Given the description of an element on the screen output the (x, y) to click on. 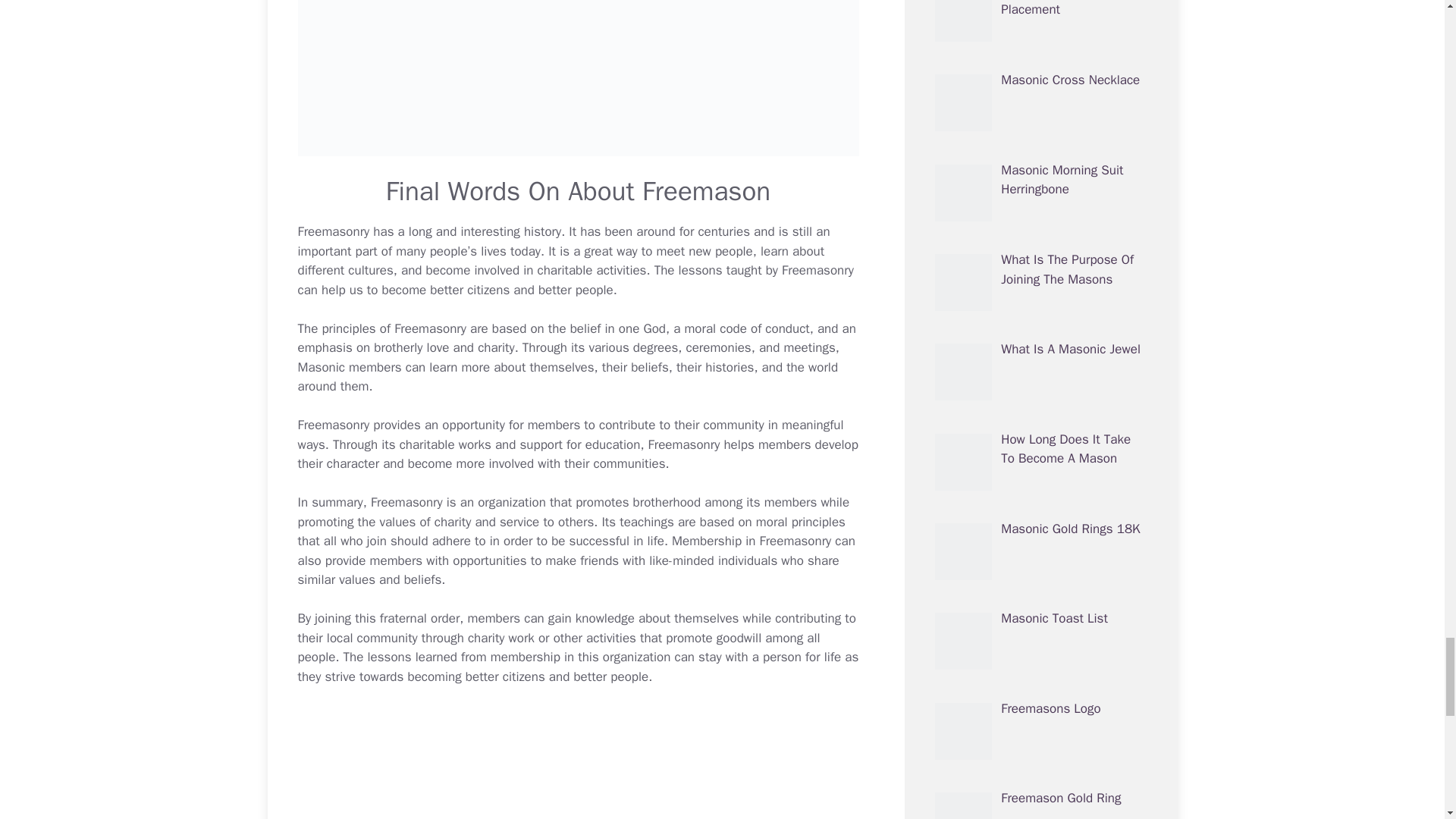
This will CHANGE the way you wear your Masonic Ring FOREVER (578, 762)
